Given the description of an element on the screen output the (x, y) to click on. 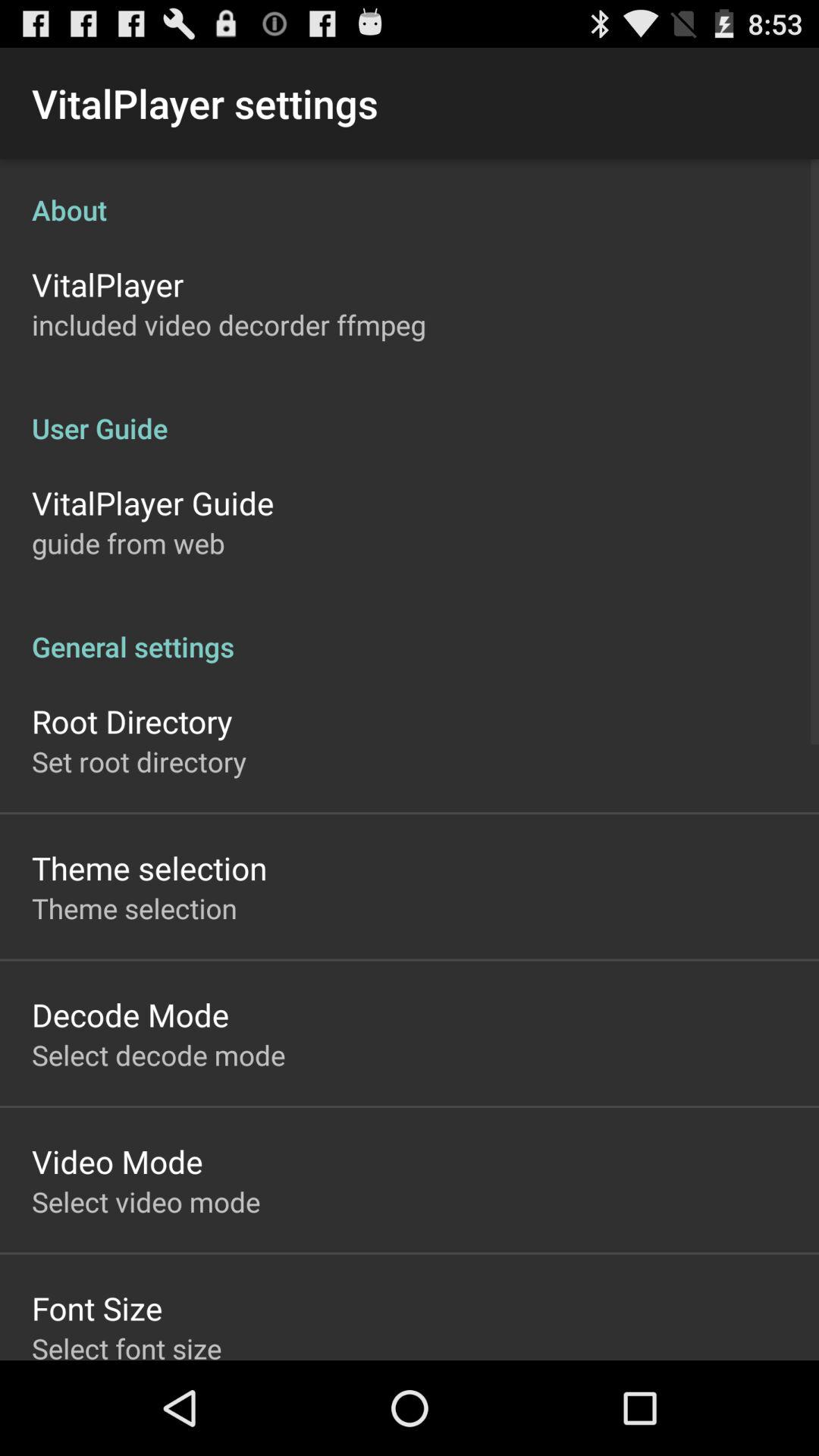
press the item above the guide from web app (152, 502)
